Given the description of an element on the screen output the (x, y) to click on. 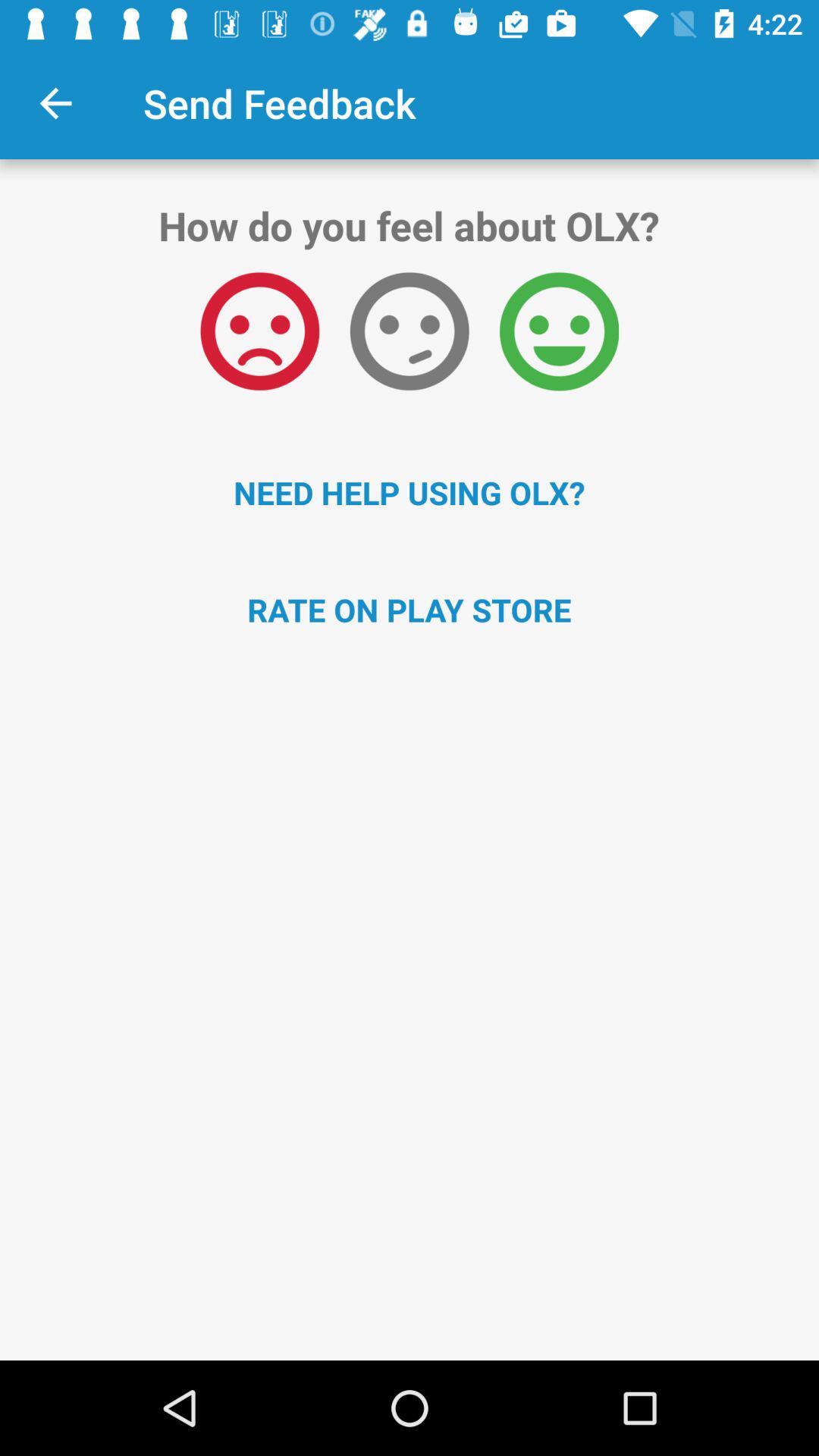
turn on rate on play icon (409, 609)
